Given the description of an element on the screen output the (x, y) to click on. 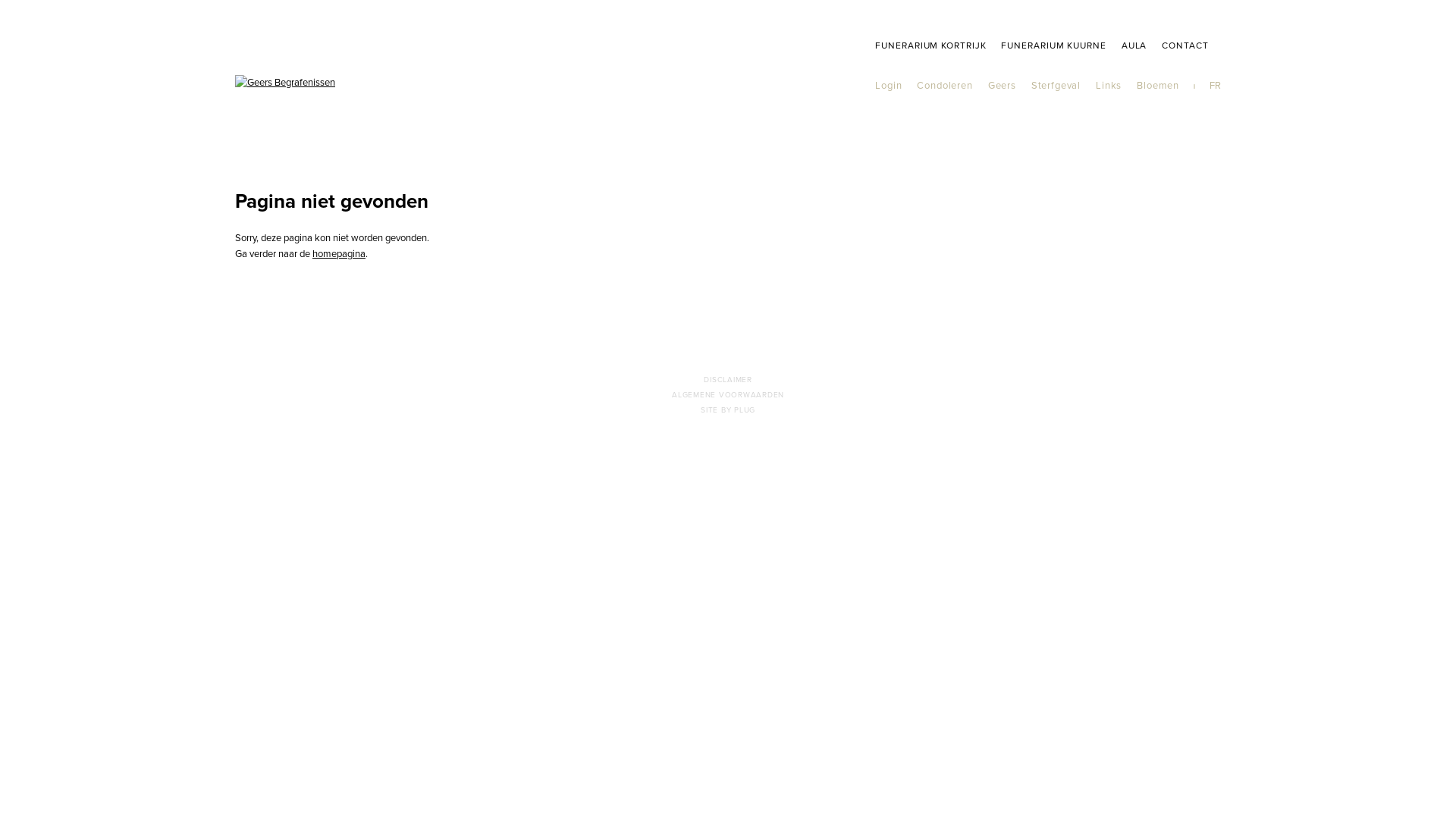
FR Element type: text (1214, 85)
homepagina Element type: text (338, 253)
Condoleren Element type: text (944, 86)
Login Element type: text (888, 86)
Links Element type: text (1108, 86)
FUNERARIUM KORTRIJK Element type: text (930, 45)
AULA Element type: text (1134, 45)
Geers Element type: text (1002, 86)
Sterfgeval Element type: text (1055, 86)
DISCLAIMER Element type: text (727, 379)
ALGEMENE VOORWAARDEN Element type: text (727, 394)
Bloemen Element type: text (1157, 86)
SITE BY PLUG Element type: text (727, 409)
CONTACT Element type: text (1184, 45)
FUNERARIUM KUURNE Element type: text (1053, 45)
